Given the description of an element on the screen output the (x, y) to click on. 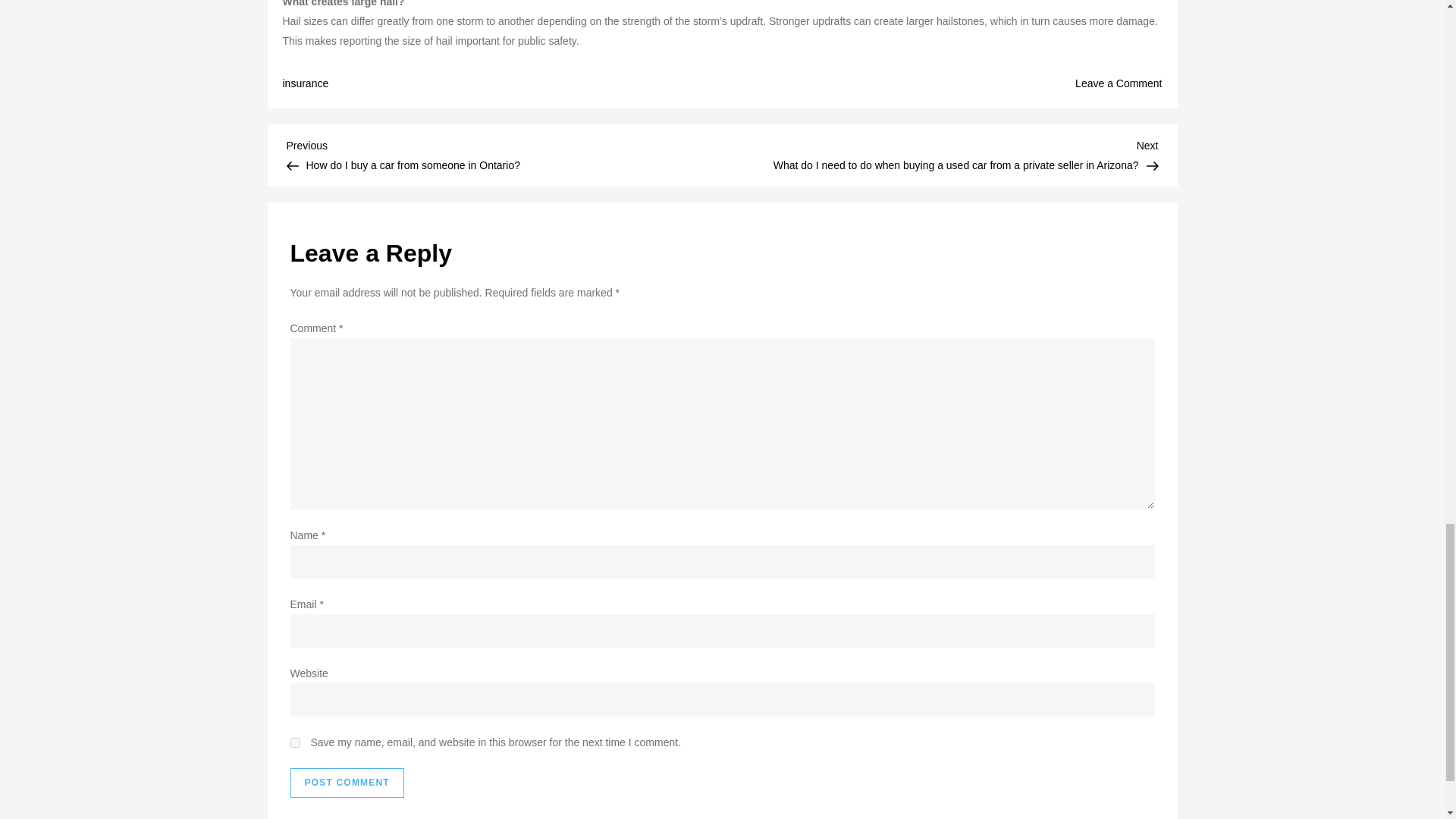
yes (294, 742)
Post Comment (346, 783)
insurance (305, 83)
Post Comment (1118, 82)
